Given the description of an element on the screen output the (x, y) to click on. 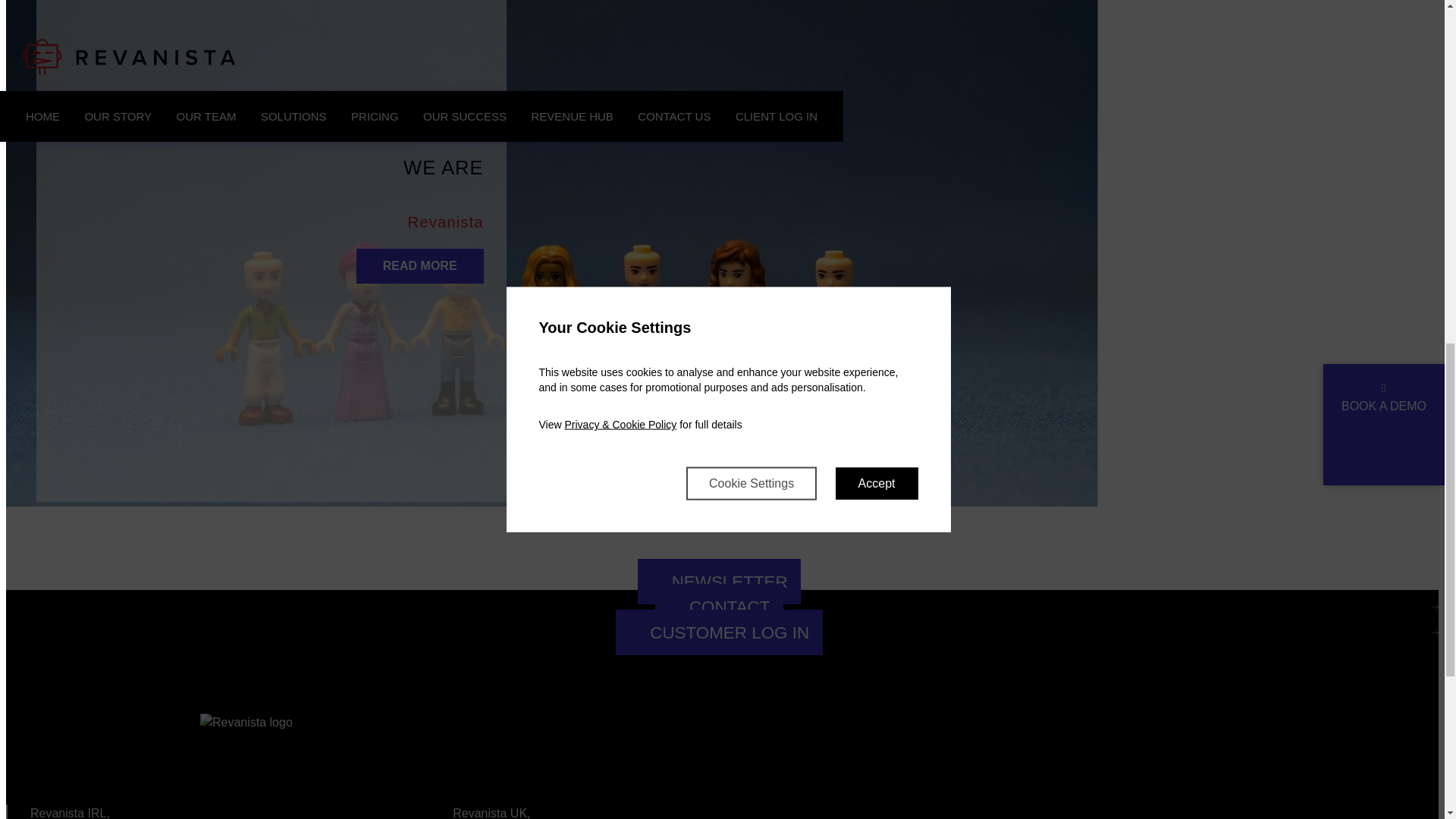
Contact Us (719, 606)
Revanista logo (148, 758)
Sign up for newsletters (719, 581)
Customer portal (718, 632)
